Given the description of an element on the screen output the (x, y) to click on. 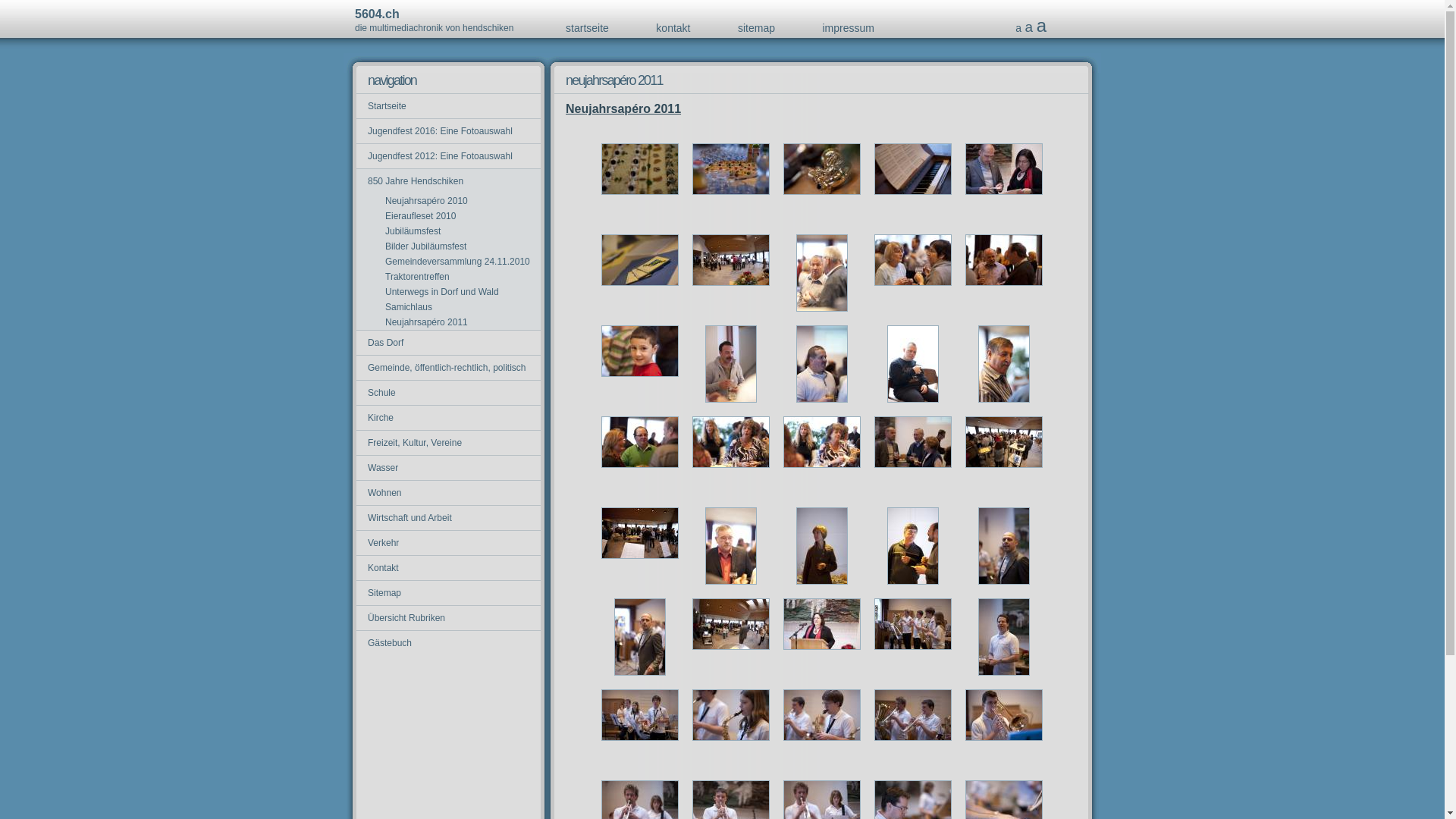
Freizeit, Kultur, Vereine Element type: text (448, 442)
a Element type: text (1041, 25)
Kontakt Element type: text (448, 567)
Wasser Element type: text (448, 467)
a Element type: text (1018, 27)
Gemeindeversammlung 24.11.2010 Element type: text (451, 261)
kontakt Element type: text (672, 27)
Wohnen Element type: text (448, 492)
Jugendfest 2012: Eine Fotoauswahl Element type: text (448, 156)
Das Dorf Element type: text (448, 342)
Schule Element type: text (448, 392)
Unterwegs in Dorf und Wald Element type: text (435, 291)
Samichlaus Element type: text (402, 306)
a Element type: text (1029, 26)
Sitemap Element type: text (448, 592)
Eieraufleset 2010 Element type: text (414, 215)
Jugendfest 2016: Eine Fotoauswahl Element type: text (448, 131)
Startseite Element type: text (448, 106)
startseite Element type: text (586, 27)
sitemap Element type: text (756, 27)
850 Jahre Hendschiken Element type: text (448, 181)
impressum Element type: text (847, 27)
Traktorentreffen Element type: text (411, 276)
Kirche Element type: text (448, 417)
Verkehr Element type: text (448, 542)
Wirtschaft und Arbeit Element type: text (448, 517)
